Given the description of an element on the screen output the (x, y) to click on. 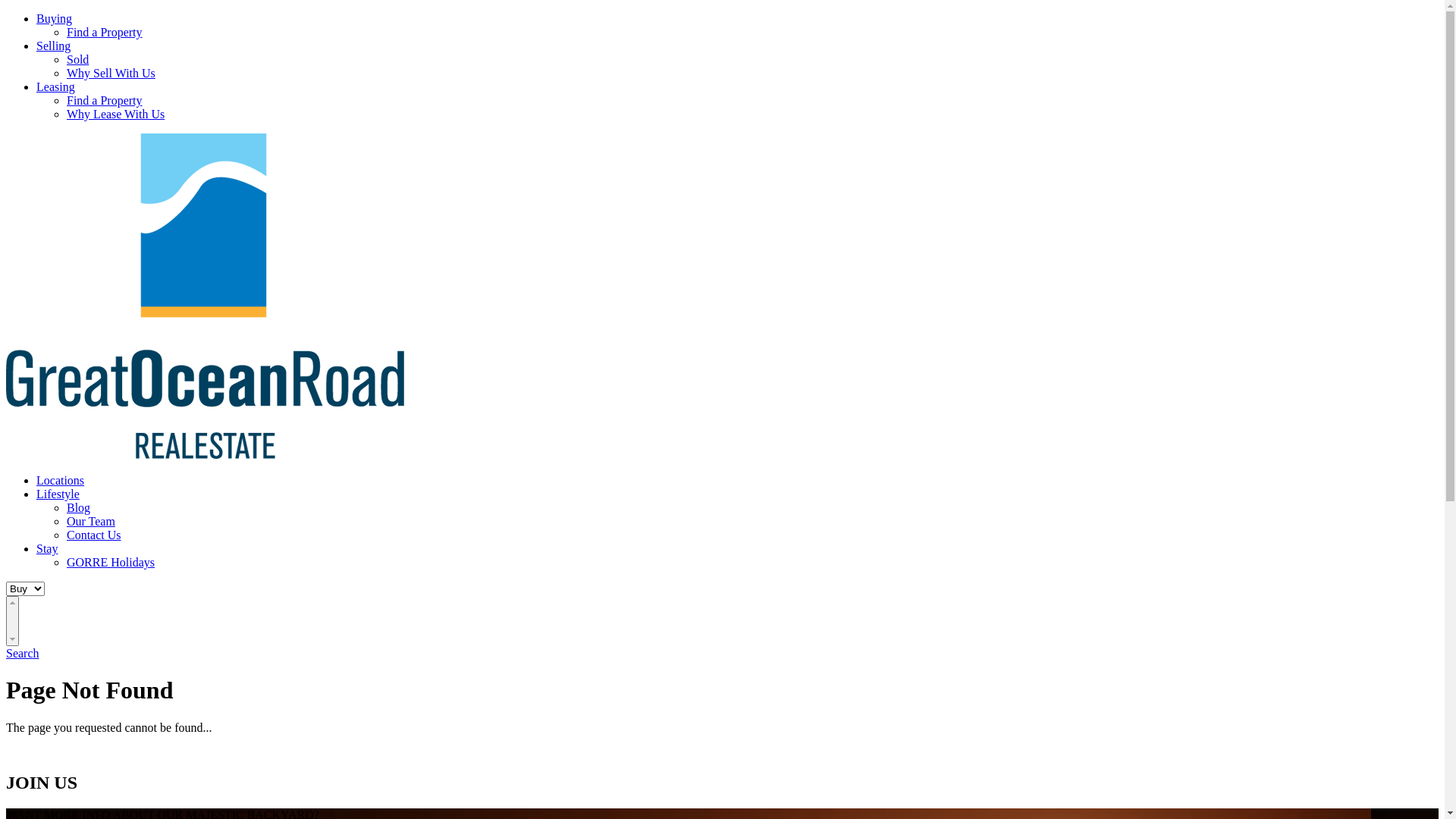
Sold Element type: text (77, 59)
GORRE Holidays Element type: text (110, 561)
Selling Element type: text (53, 45)
Stay Element type: text (46, 548)
Leasing Element type: text (55, 86)
Why Lease With Us Element type: text (115, 113)
Find a Property Element type: text (104, 100)
Locations Element type: text (60, 479)
Why Sell With Us Element type: text (110, 72)
Search Element type: text (22, 652)
Blog Element type: text (78, 507)
Buying Element type: text (54, 18)
Find a Property Element type: text (104, 31)
Contact Us Element type: text (93, 534)
Our Team Element type: text (90, 520)
Lifestyle Element type: text (57, 493)
Great Ocean Road Real Estate -  Element type: hover (205, 454)
